Given the description of an element on the screen output the (x, y) to click on. 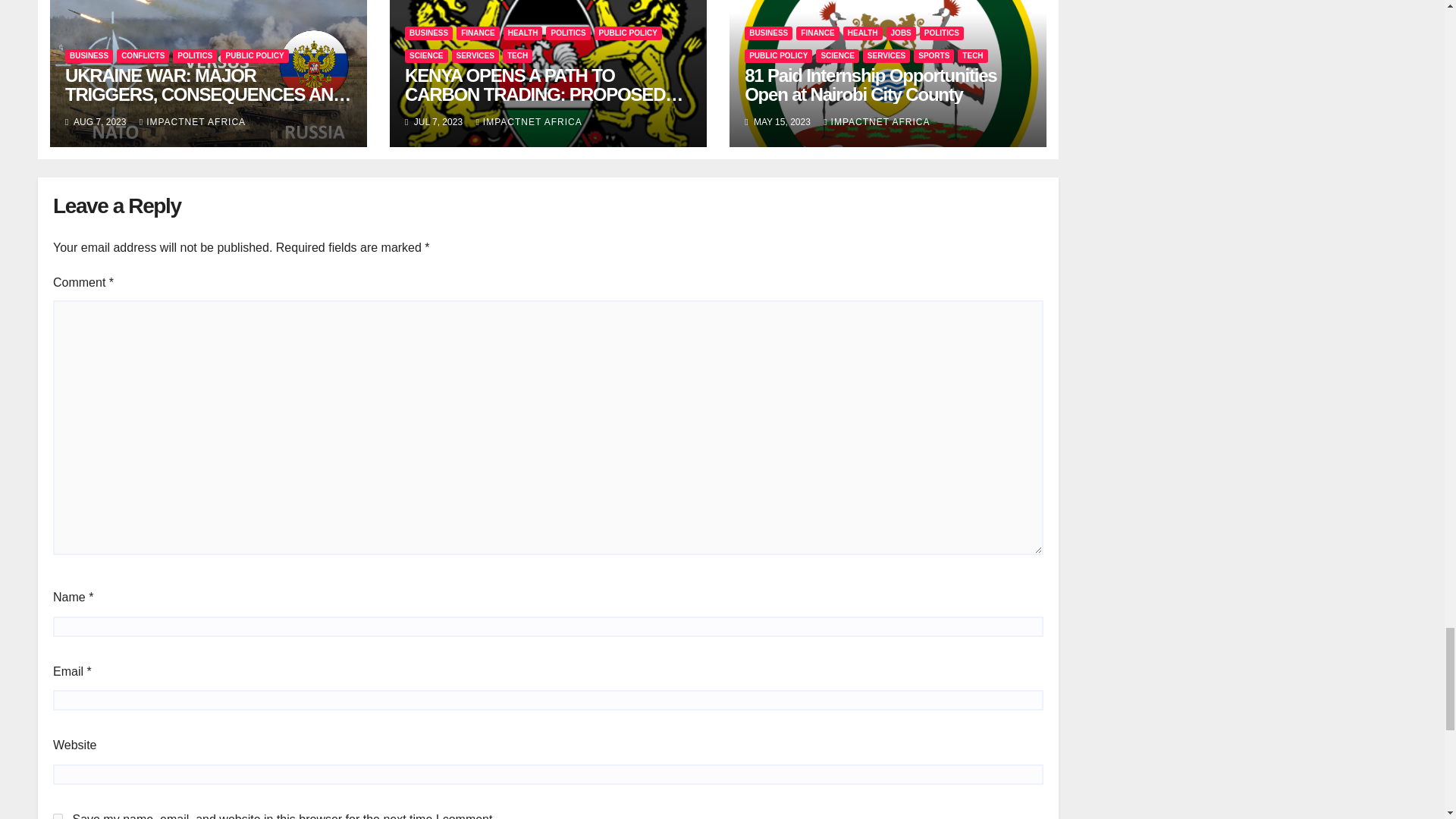
yes (57, 816)
